Given the description of an element on the screen output the (x, y) to click on. 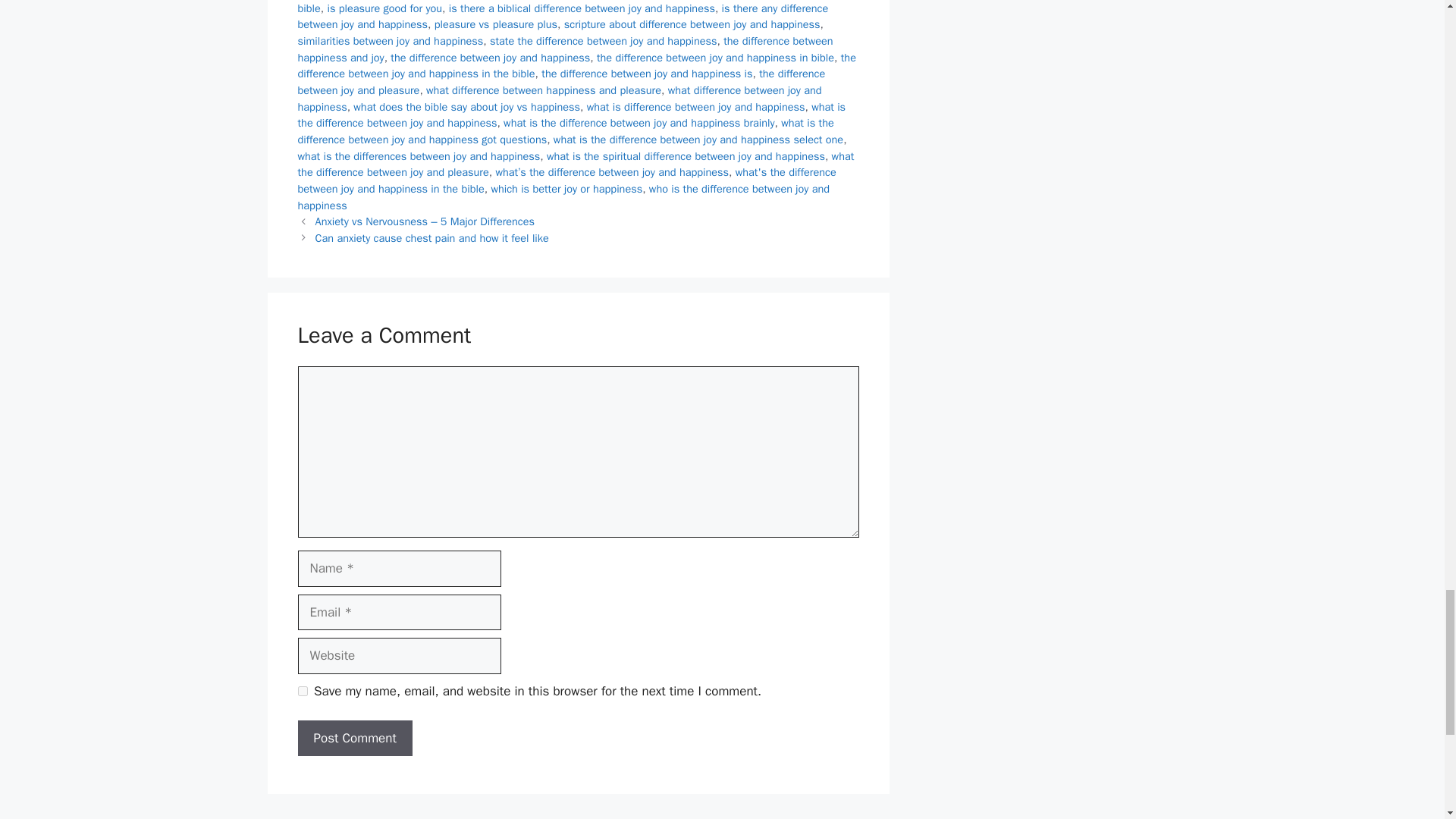
yes (302, 691)
Post Comment (354, 738)
